Given the description of an element on the screen output the (x, y) to click on. 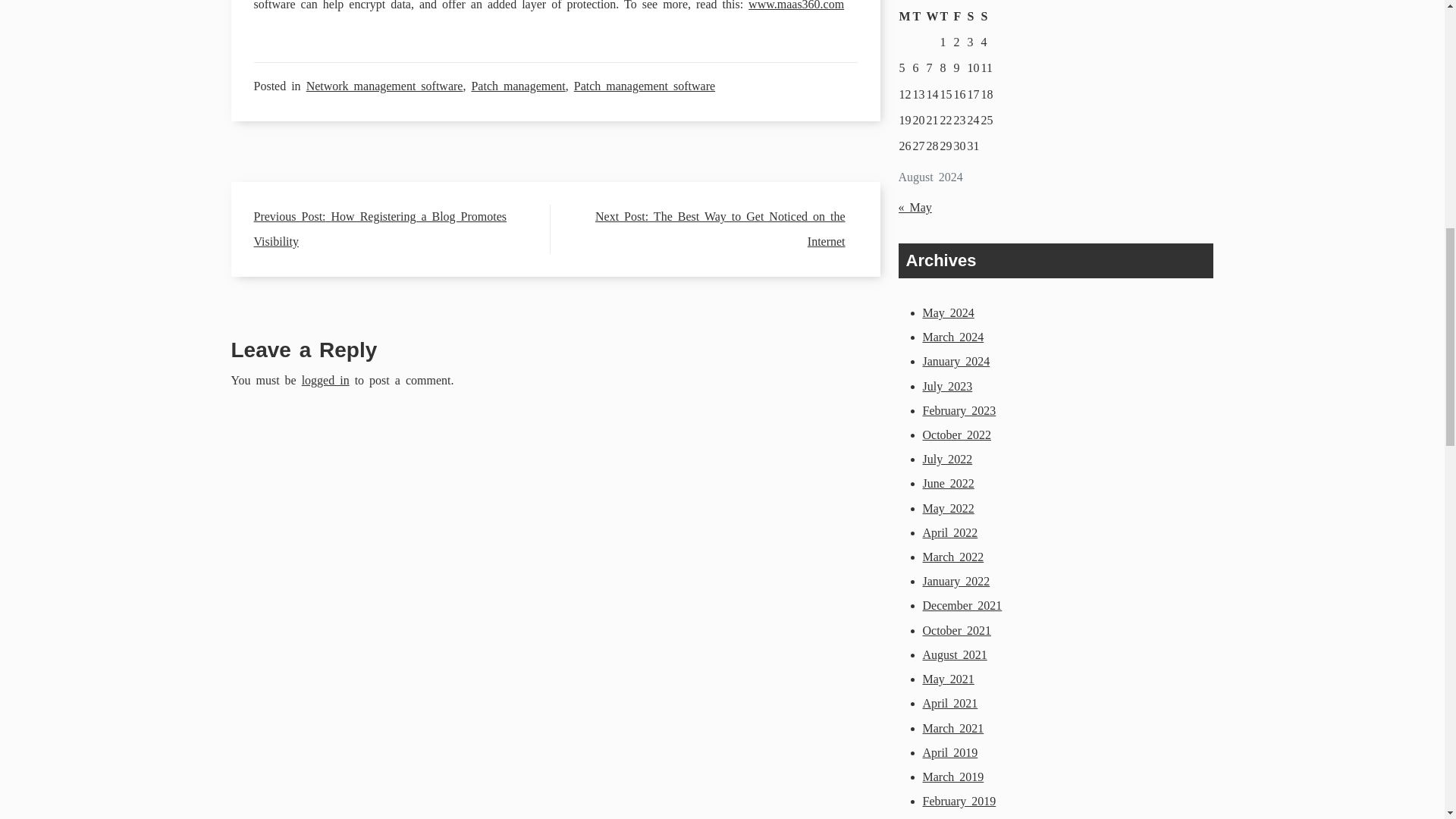
February 2023 (958, 410)
January 2024 (955, 360)
Network management software (384, 85)
May 2022 (947, 508)
Patch management software (643, 85)
April 2022 (948, 532)
March 2024 (952, 336)
More information about Enterprise mobility (796, 5)
June 2022 (947, 482)
July 2023 (946, 386)
